Given the description of an element on the screen output the (x, y) to click on. 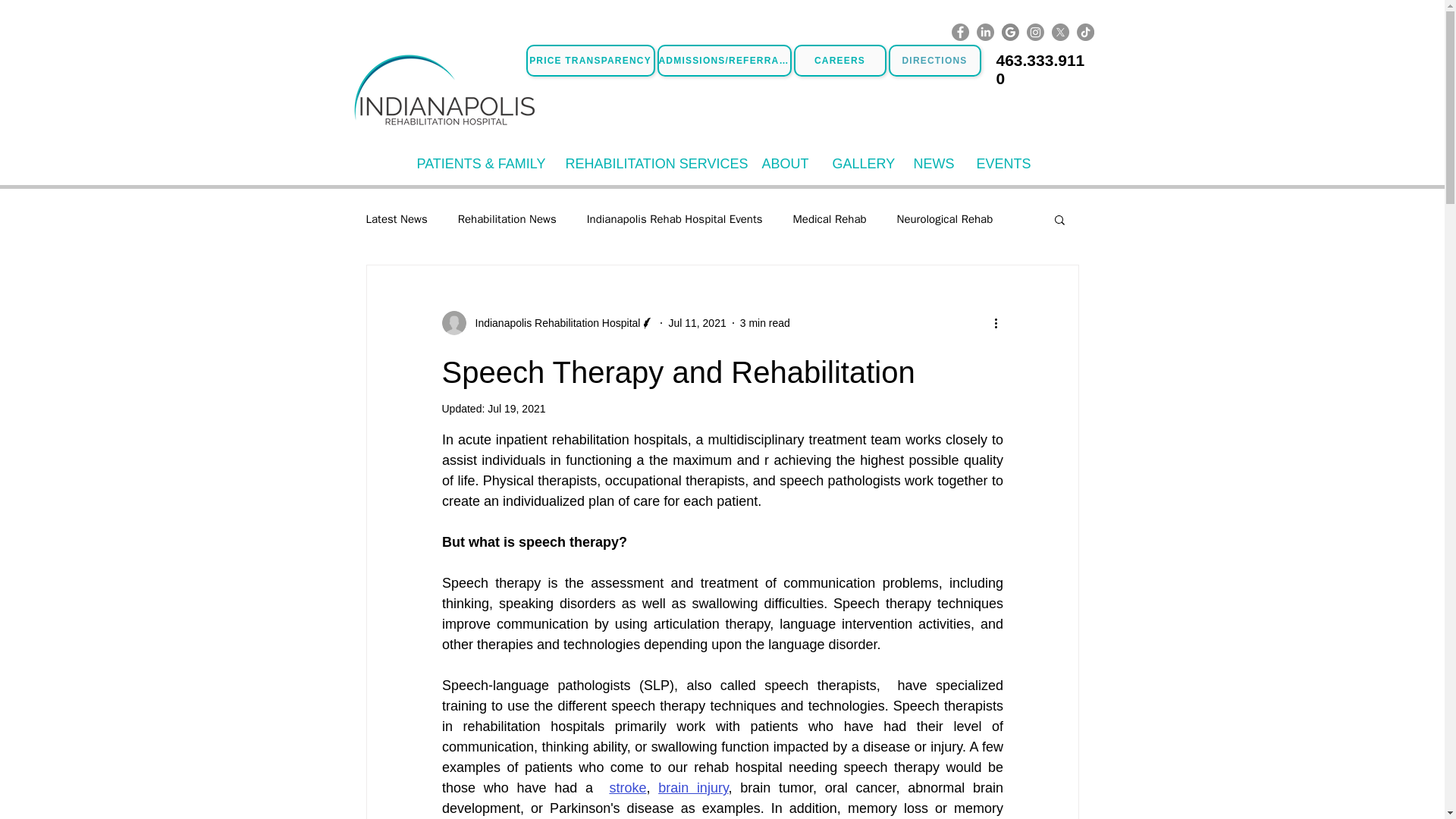
Jul 19, 2021 (515, 408)
Jul 11, 2021 (696, 322)
Indianapolis Rehabilitation Hospital (552, 323)
3 min read (764, 322)
REHABILITATION SERVICES (651, 168)
463.333.9110 (1039, 68)
DIRECTIONS (934, 60)
CAREERS (839, 60)
ABOUT (786, 168)
PRICE TRANSPARENCY (590, 60)
